Given the description of an element on the screen output the (x, y) to click on. 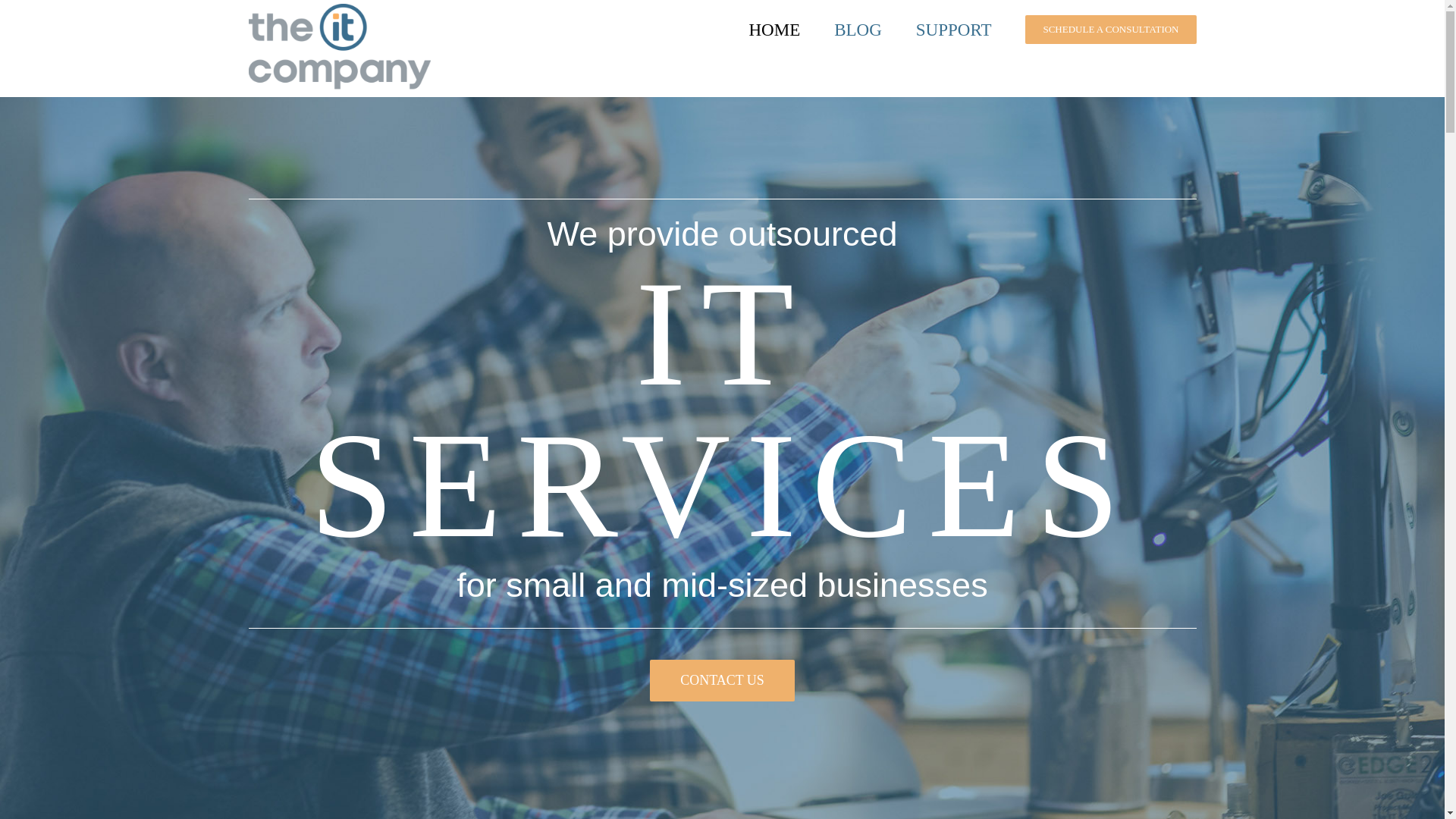
HOME (773, 29)
BLOG (858, 29)
SCHEDULE A CONSULTATION (1110, 29)
CONTACT US (721, 680)
SUPPORT (953, 29)
